Given the description of an element on the screen output the (x, y) to click on. 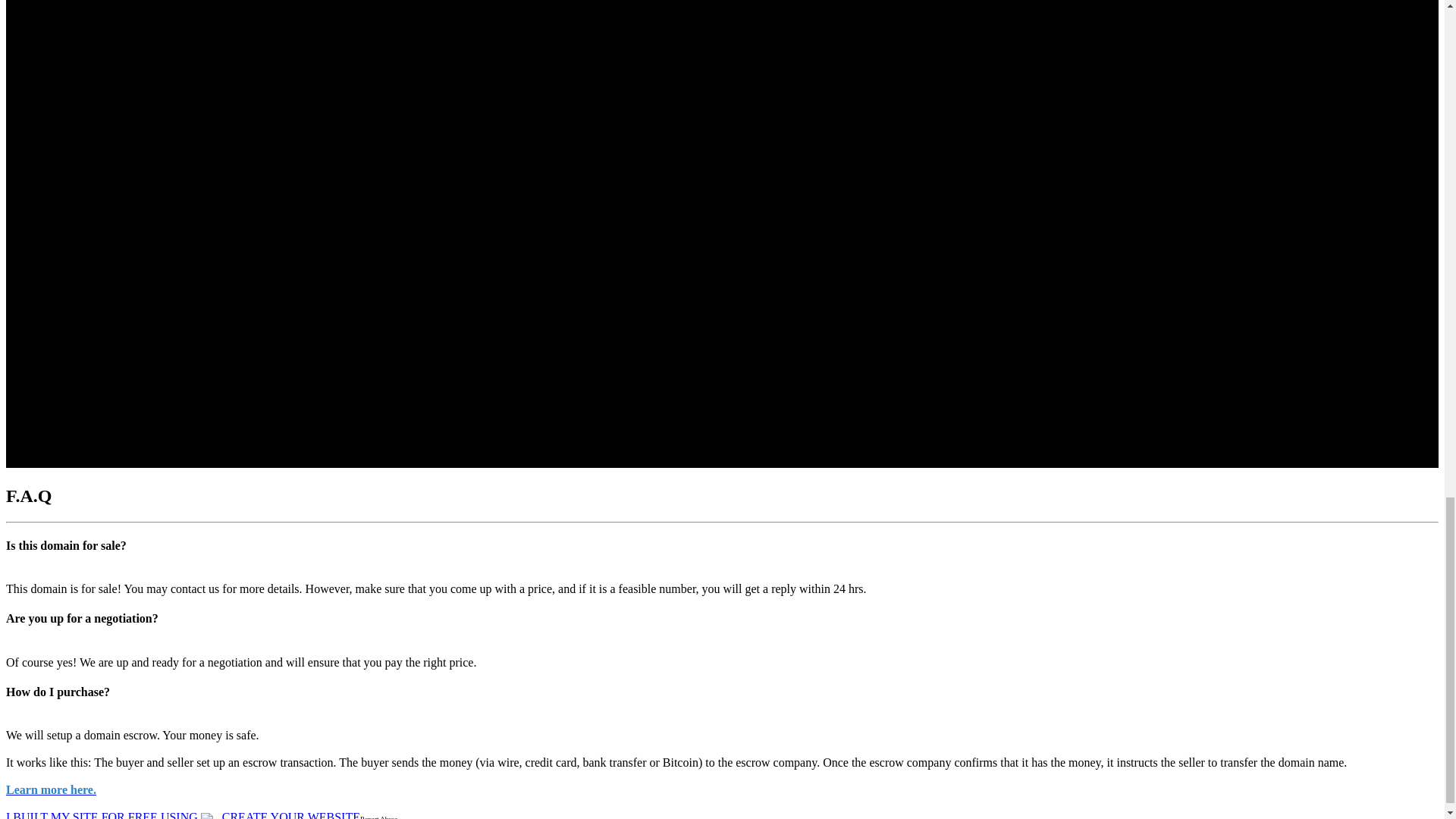
Learn more here. (50, 789)
